Given the description of an element on the screen output the (x, y) to click on. 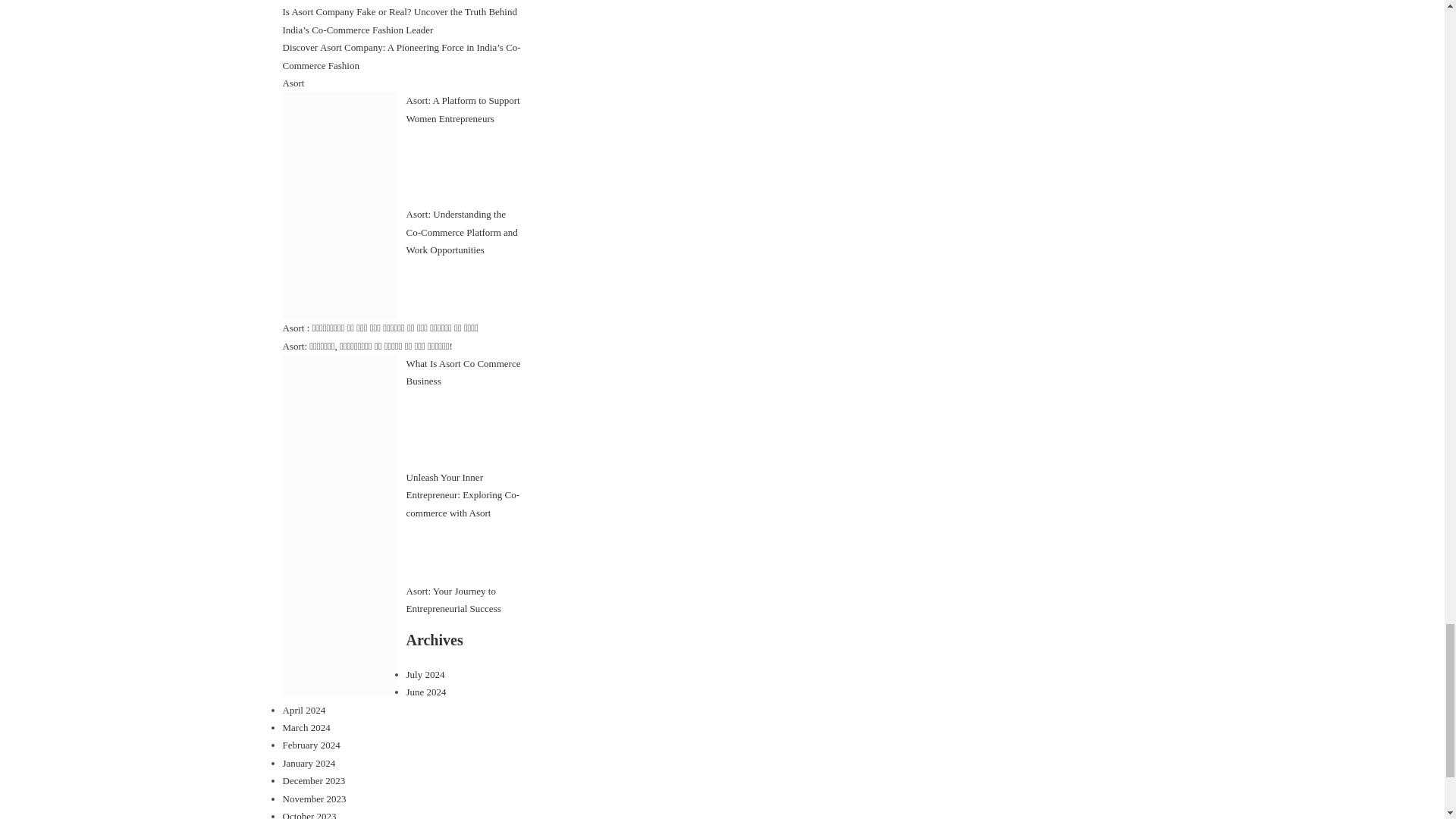
Asort (293, 82)
Asort: A Platform to Support Women Entrepreneurs (462, 109)
November 2023 (314, 798)
December 2023 (313, 780)
January 2024 (308, 763)
Asort: Your Journey to Entrepreneurial Success (453, 599)
October 2023 (309, 814)
April 2024 (303, 709)
February 2024 (310, 745)
March 2024 (306, 727)
June 2024 (426, 691)
July 2024 (425, 674)
What Is Asort Co Commerce Business (463, 371)
